Given the description of an element on the screen output the (x, y) to click on. 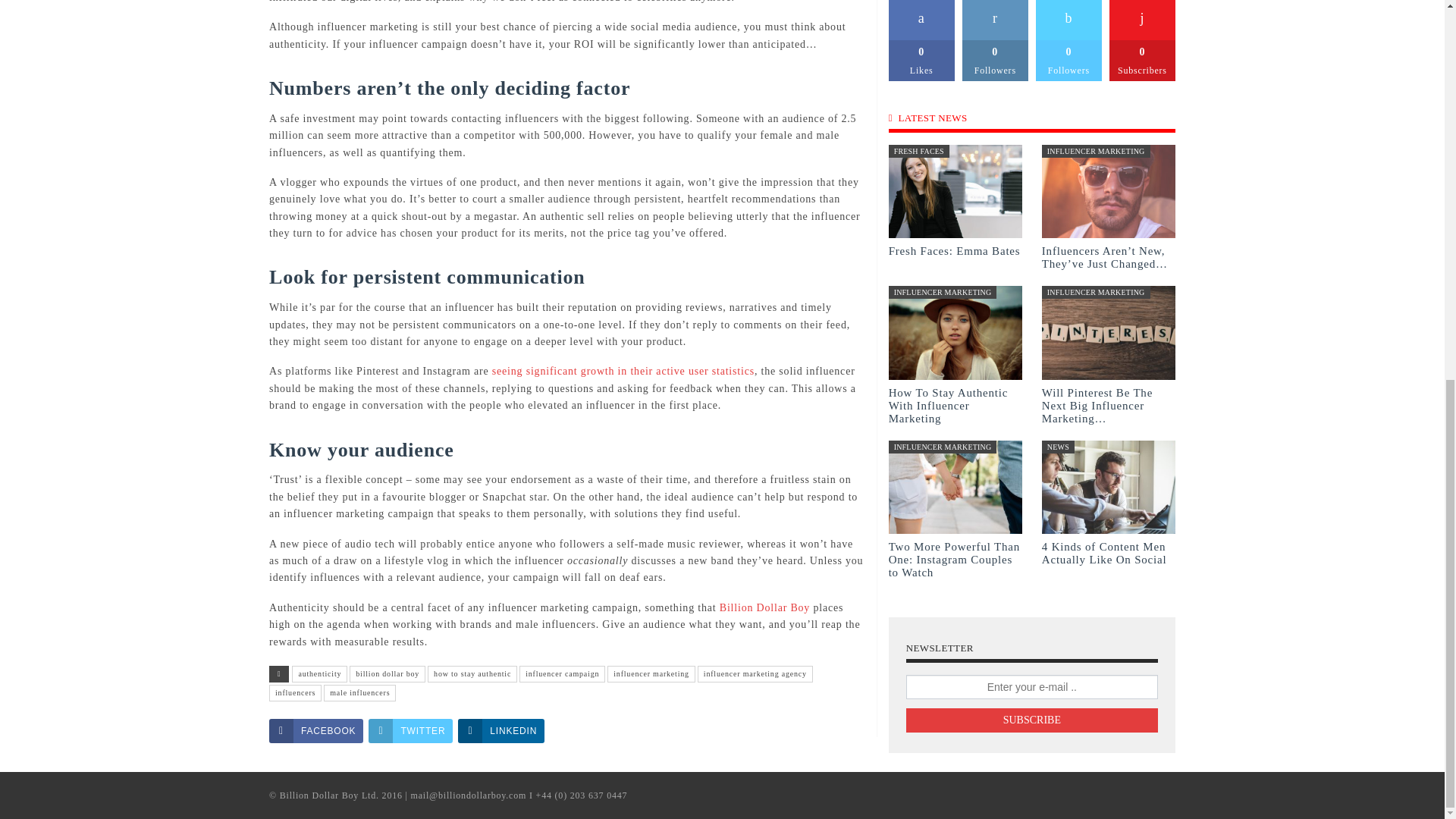
Fresh Faces: Emma Bates (954, 250)
How To Stay Authentic With Influencer Marketing (948, 405)
4 Kinds of Content Men Actually Like On Social (1104, 552)
Two More Powerful Than One: Instagram Couples to Watch (954, 559)
Subscribe (1031, 720)
